Given the description of an element on the screen output the (x, y) to click on. 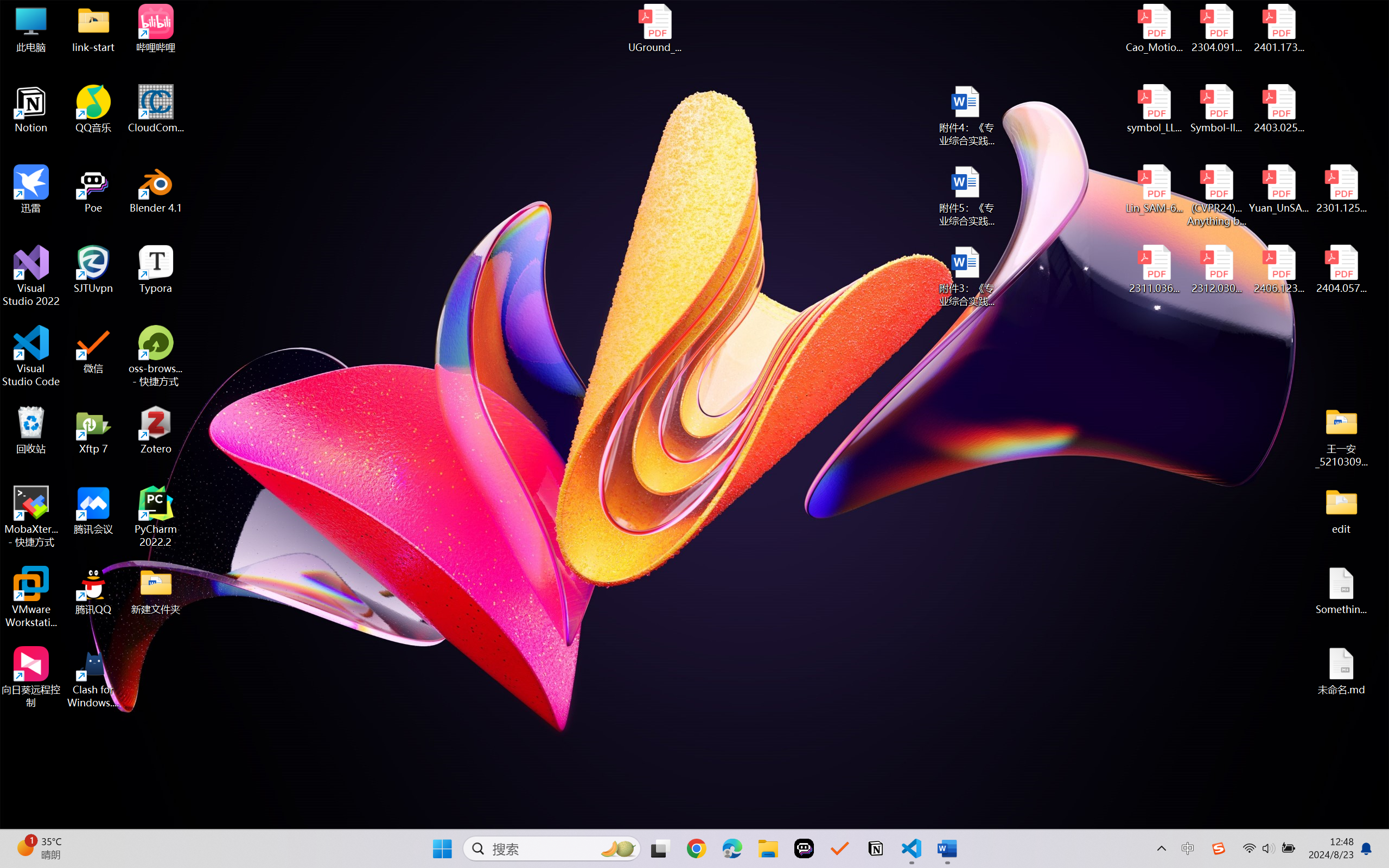
CloudCompare (156, 109)
UGround_paper.pdf (654, 28)
2311.03658v2.pdf (1154, 269)
Visual Studio Code (31, 355)
(CVPR24)Matching Anything by Segmenting Anything.pdf (1216, 195)
